Given the description of an element on the screen output the (x, y) to click on. 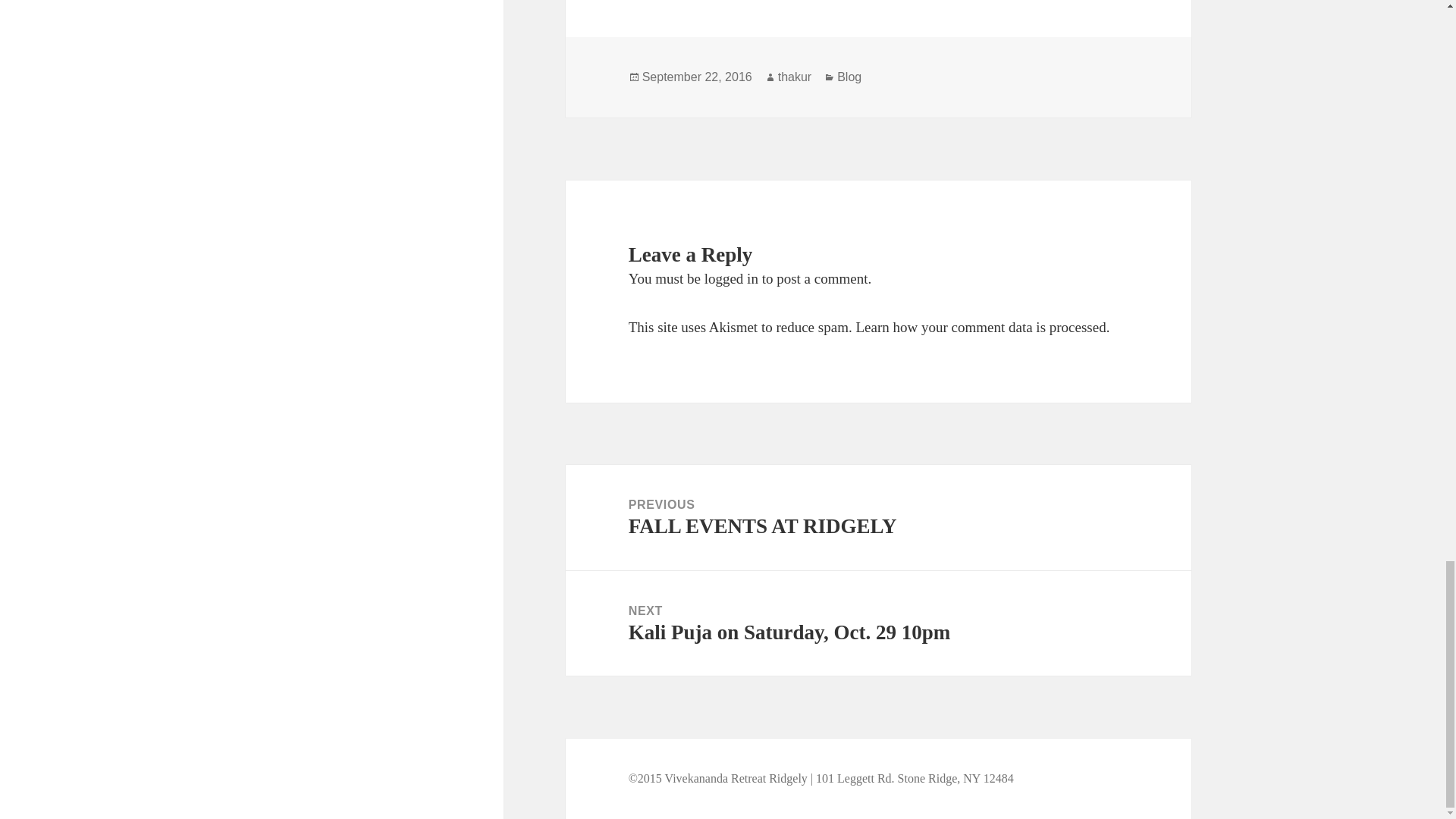
logged in (731, 278)
thakur (793, 77)
Learn how your comment data is processed (980, 326)
September 22, 2016 (697, 77)
Blog (878, 623)
